Given the description of an element on the screen output the (x, y) to click on. 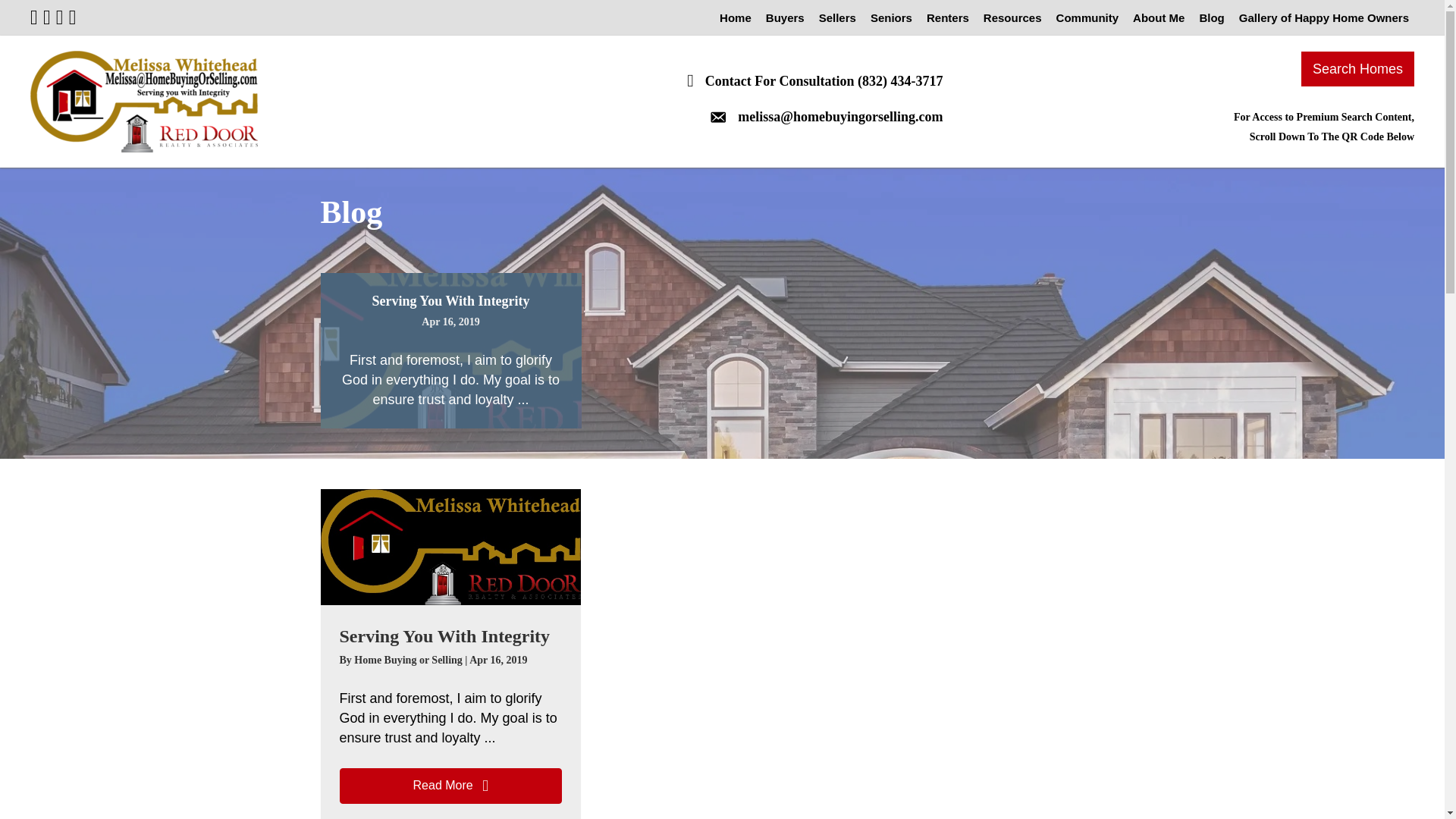
Serving You With Integrity (449, 545)
Resources (1012, 18)
Search Homes (1357, 68)
Home Buying or Selling (408, 659)
Community (1087, 18)
Serving You With Integrity (444, 636)
Serving You With Integrity (450, 300)
Seniors (890, 18)
About Me (1157, 18)
Renters (947, 18)
Sellers (837, 18)
Serving You With Integrity (444, 636)
Serving You With Integrity (450, 300)
Blog (1210, 18)
